Given the description of an element on the screen output the (x, y) to click on. 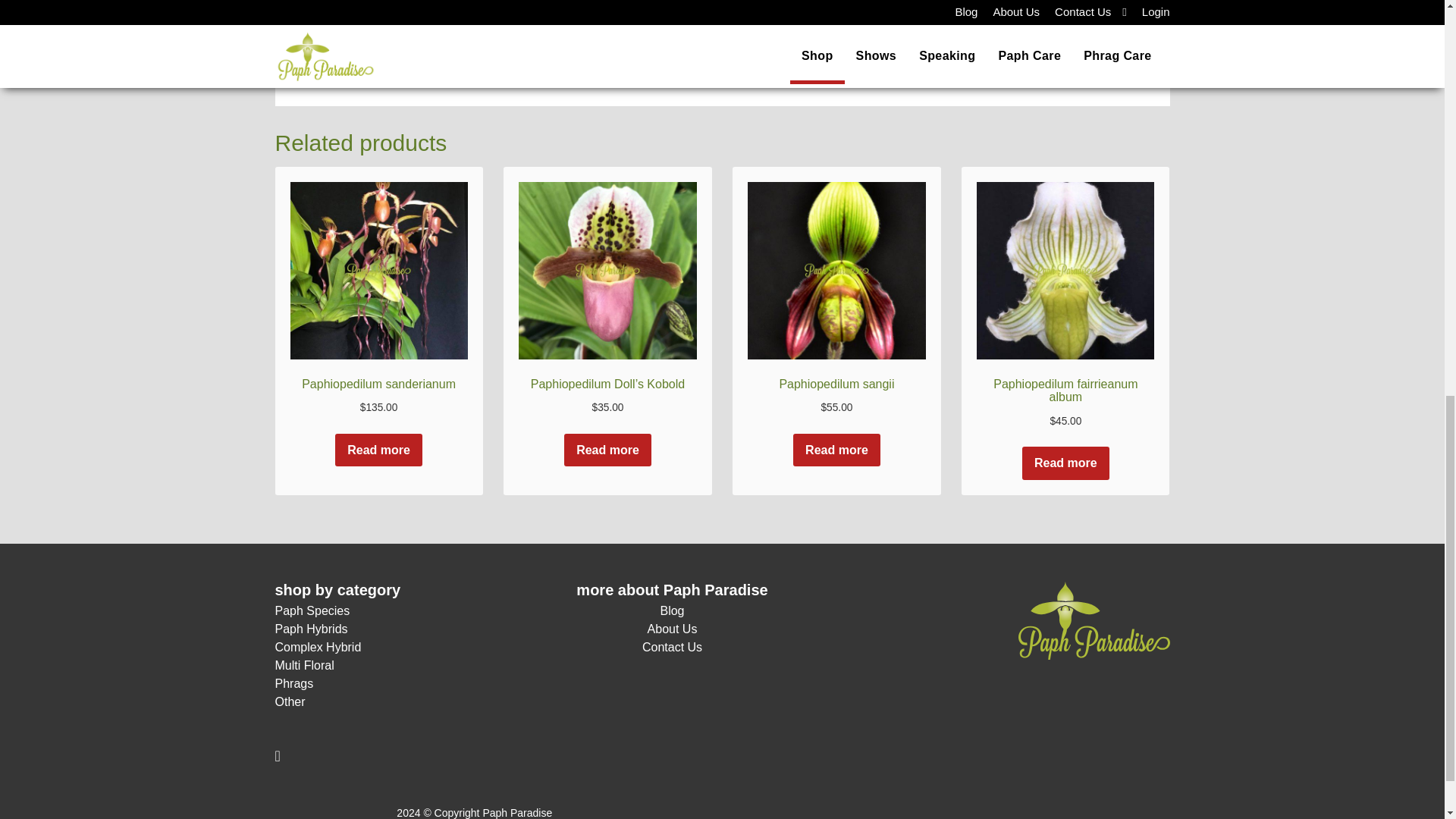
Read more (378, 450)
